Given the description of an element on the screen output the (x, y) to click on. 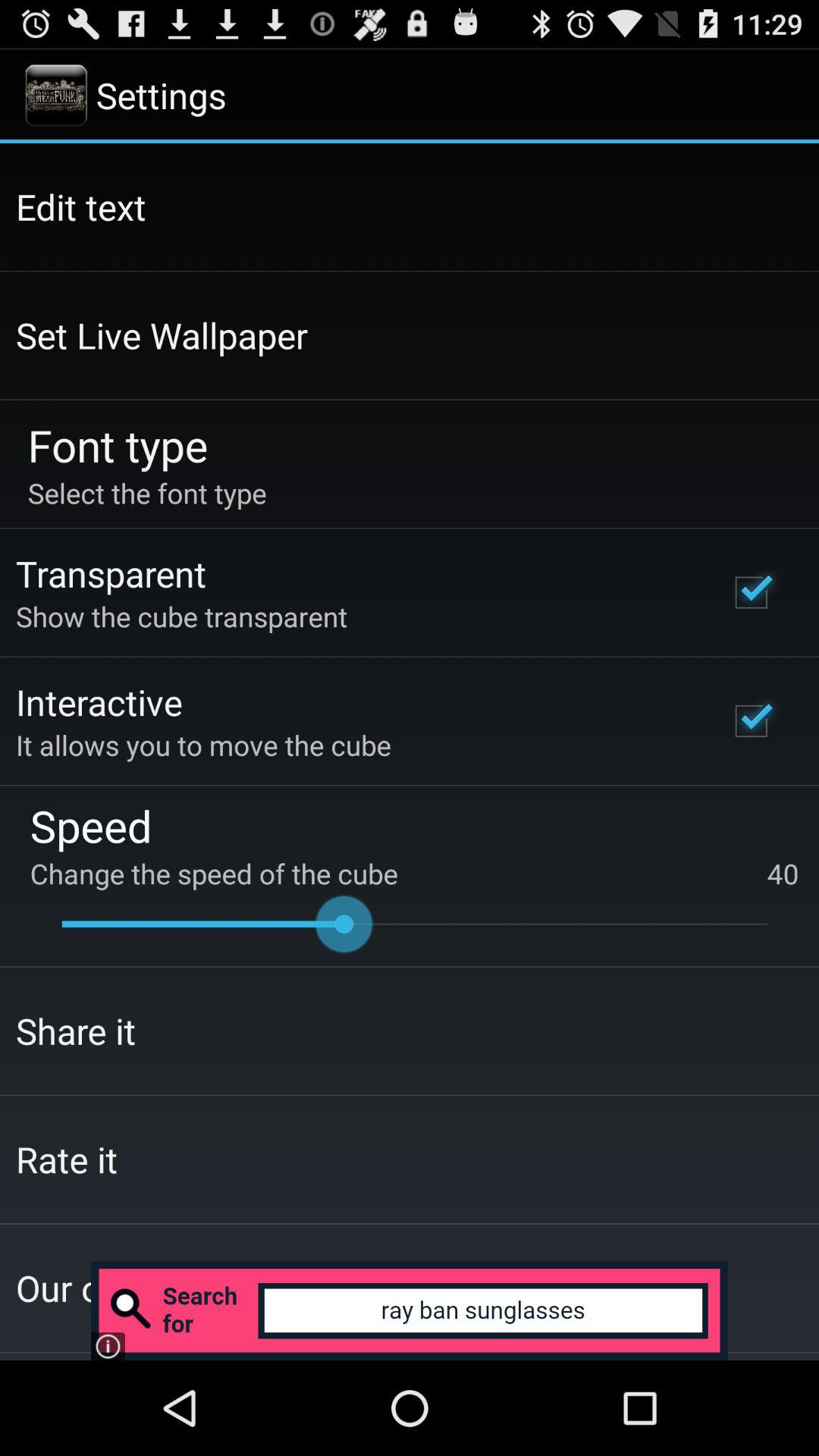
perform search (409, 1310)
